Given the description of an element on the screen output the (x, y) to click on. 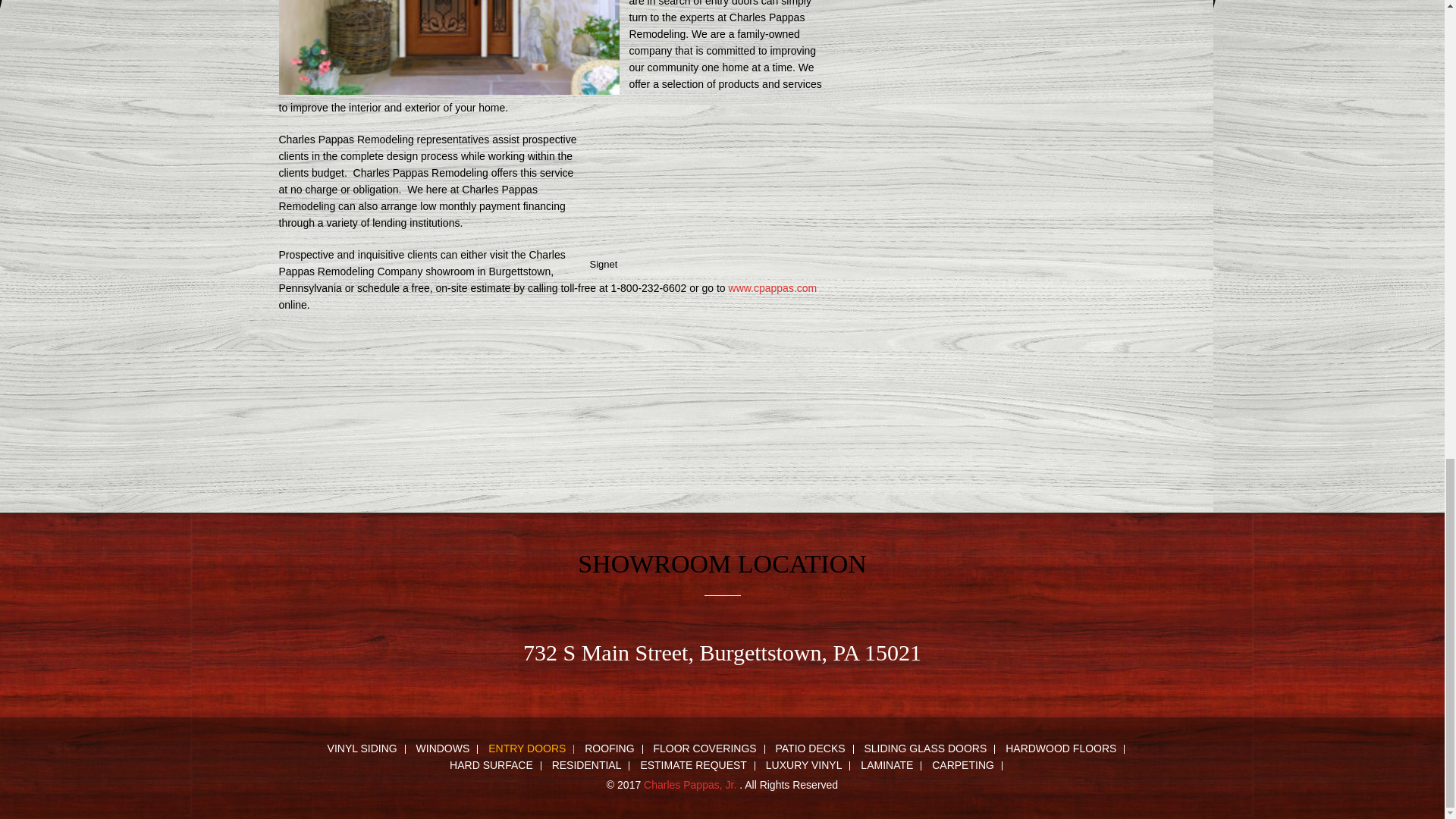
ESTIMATE REQUEST (693, 765)
www.cpappas.com (772, 287)
HARDWOOD FLOORS (1060, 748)
RESIDENTIAL (587, 765)
PATIO DECKS (810, 748)
Charles Pappas, Jr. (691, 784)
WINDOWS (444, 748)
HARD SURFACE (491, 765)
CARPETING (963, 765)
LAMINATE (887, 765)
VINYL SIDING (363, 748)
SLIDING GLASS DOORS (925, 748)
ENTRY DOORS (526, 748)
ROOFING (609, 748)
LUXURY VINYL (804, 765)
